Given the description of an element on the screen output the (x, y) to click on. 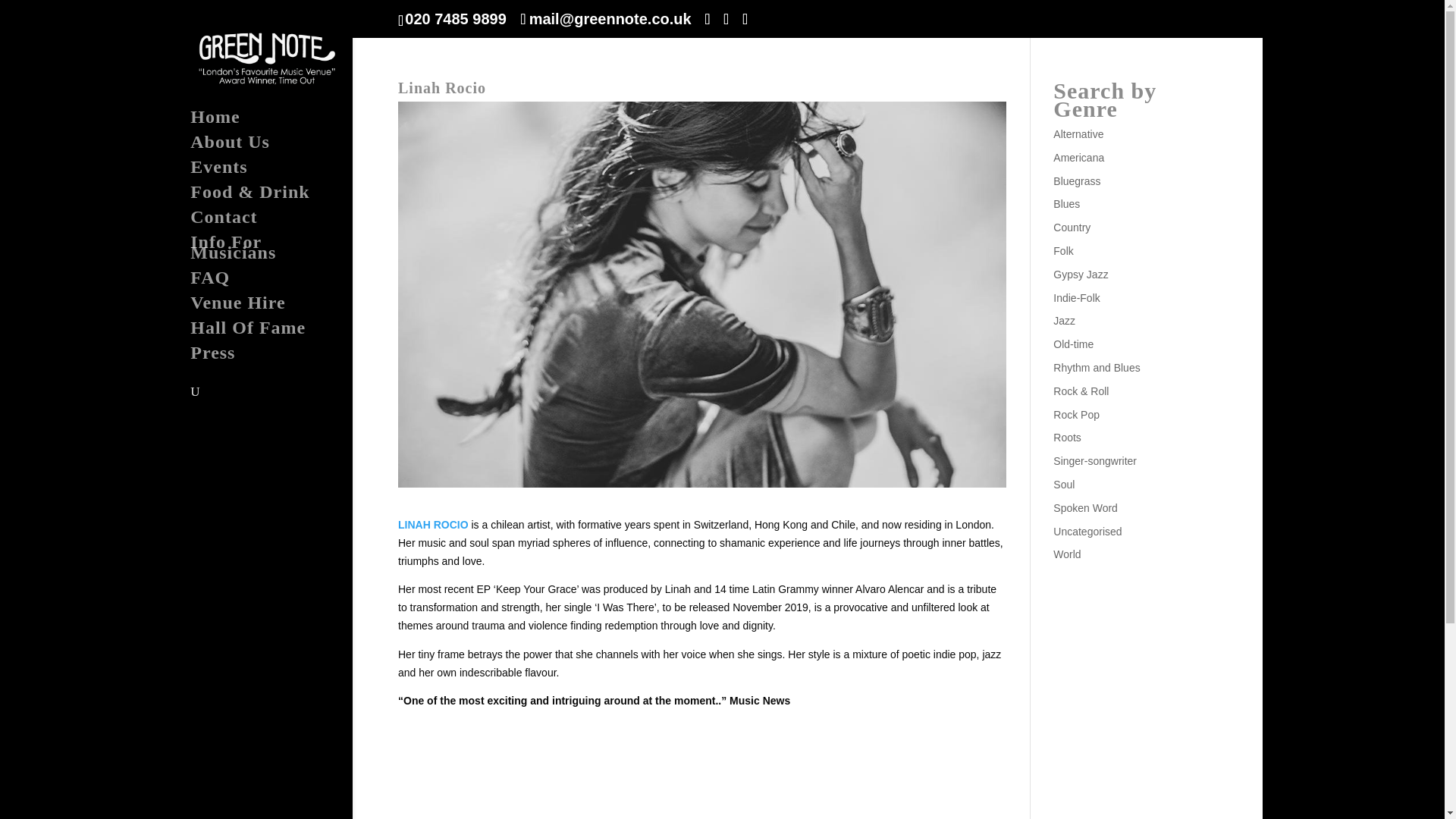
Indie-Folk (1075, 297)
Soul (1063, 484)
Bluegrass (1076, 181)
Info For Musicians (282, 253)
Hall Of Fame (282, 334)
Rock Pop (1075, 414)
Roots (1066, 437)
About Us (282, 148)
Alternative (1077, 133)
Rhythm and Blues (1096, 367)
Blues (1066, 203)
Gypsy Jazz (1080, 274)
Old-time (1072, 344)
Press (282, 359)
LINAH ROCIO (432, 524)
